Given the description of an element on the screen output the (x, y) to click on. 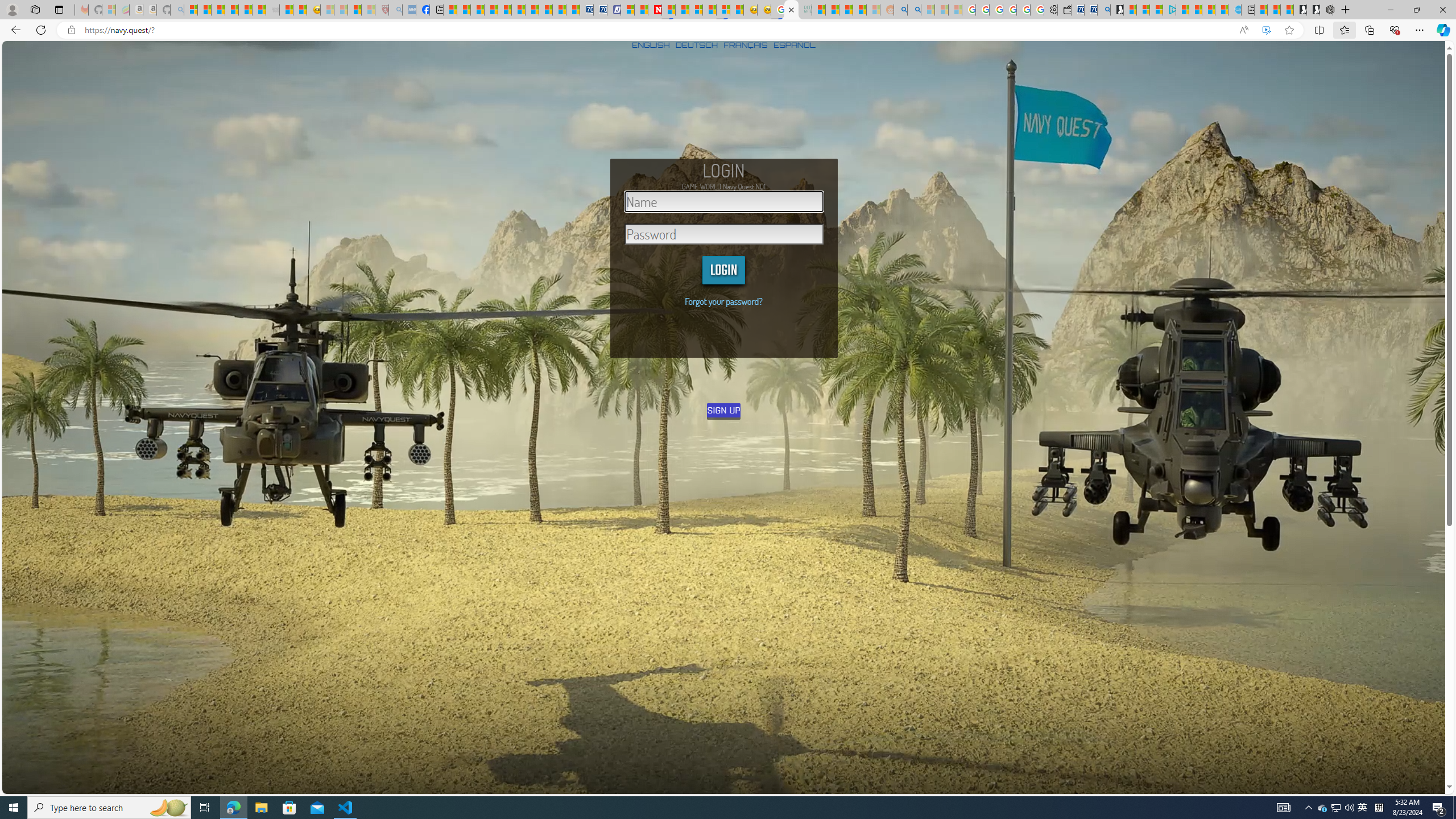
Robert H. Shmerling, MD - Harvard Health - Sleeping (381, 9)
World - MSN (477, 9)
